Given the description of an element on the screen output the (x, y) to click on. 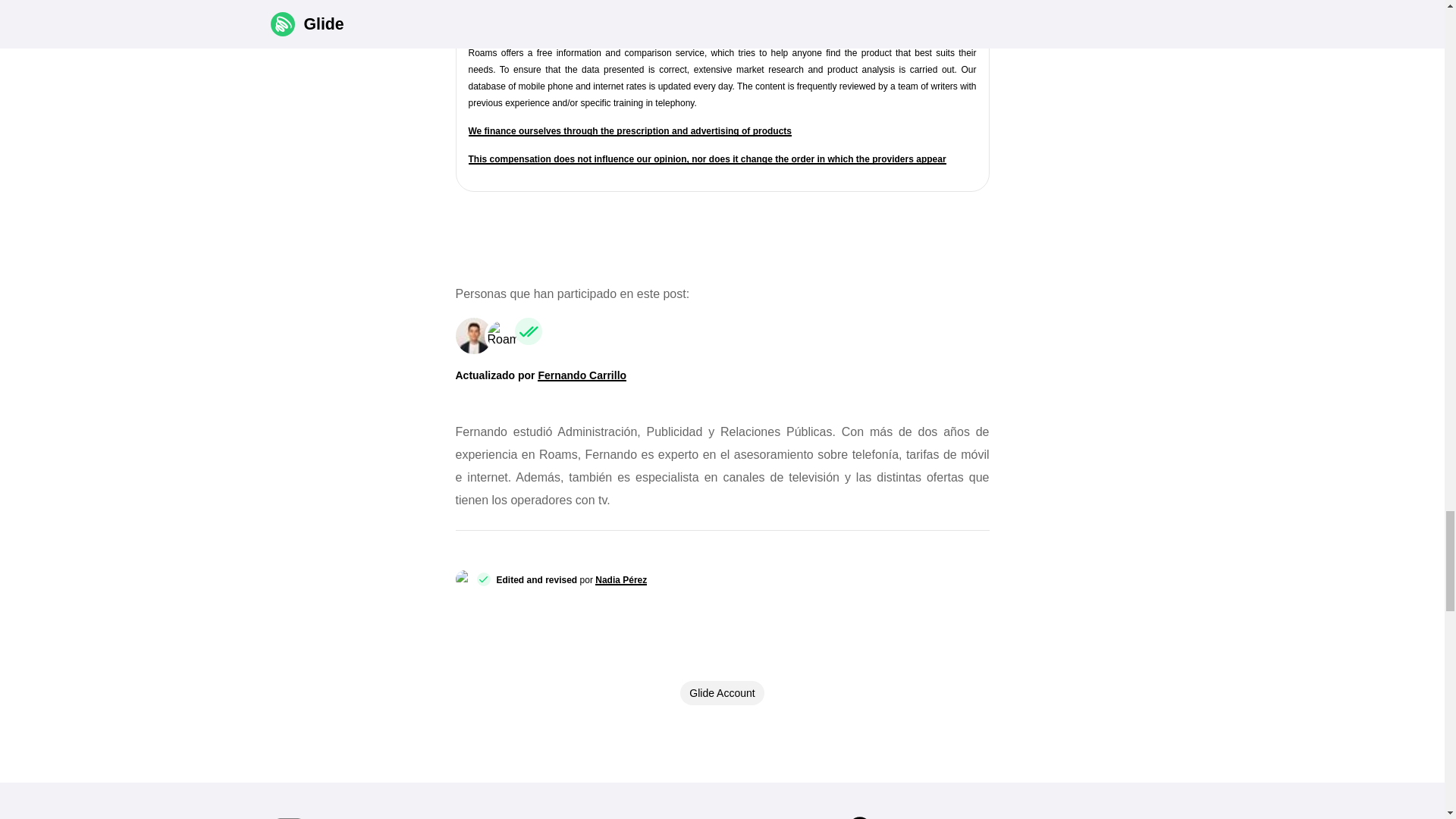
Fernando Carrillo (473, 335)
Roams (501, 335)
